Given the description of an element on the screen output the (x, y) to click on. 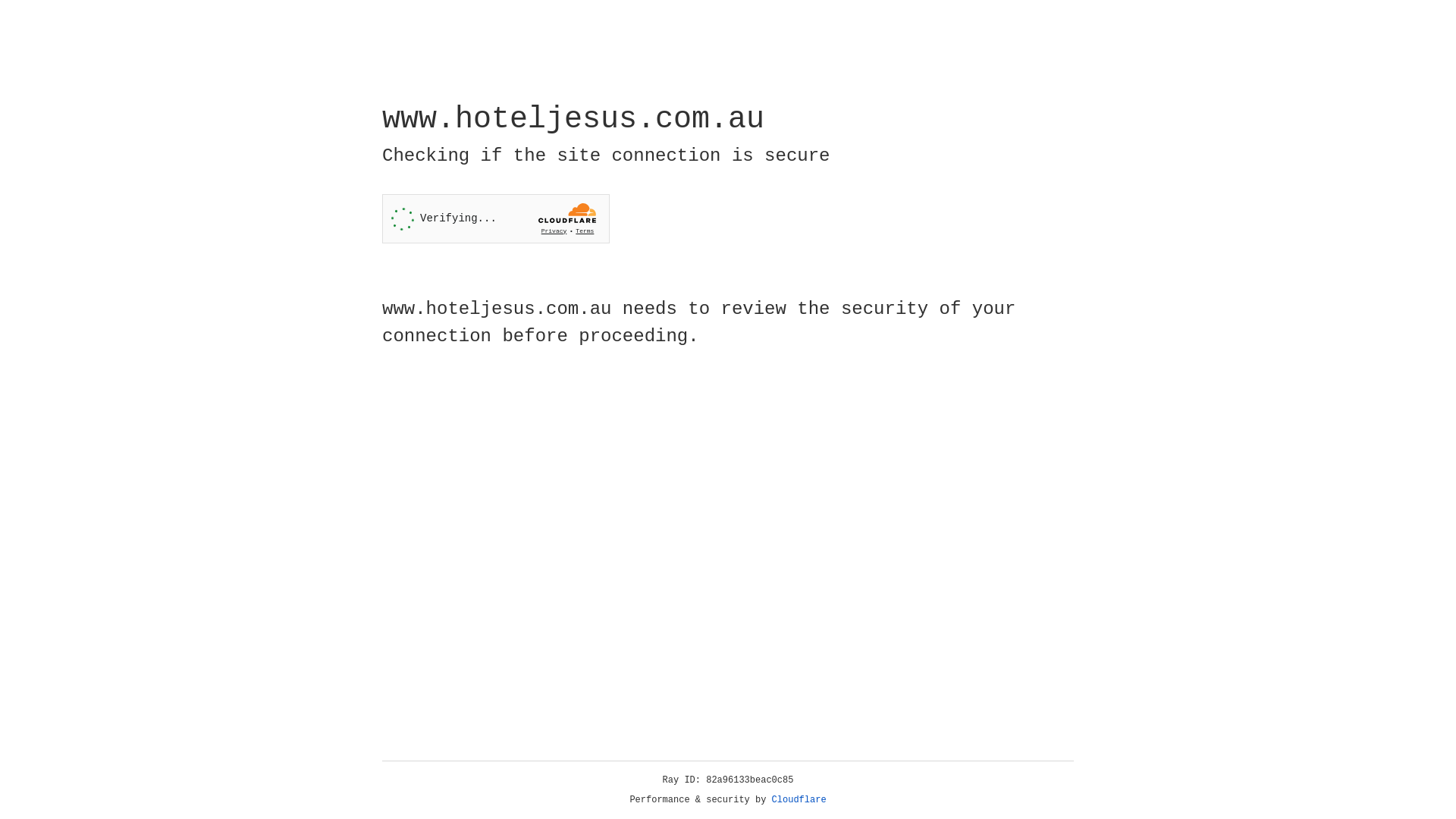
Cloudflare Element type: text (798, 799)
Widget containing a Cloudflare security challenge Element type: hover (495, 218)
